Given the description of an element on the screen output the (x, y) to click on. 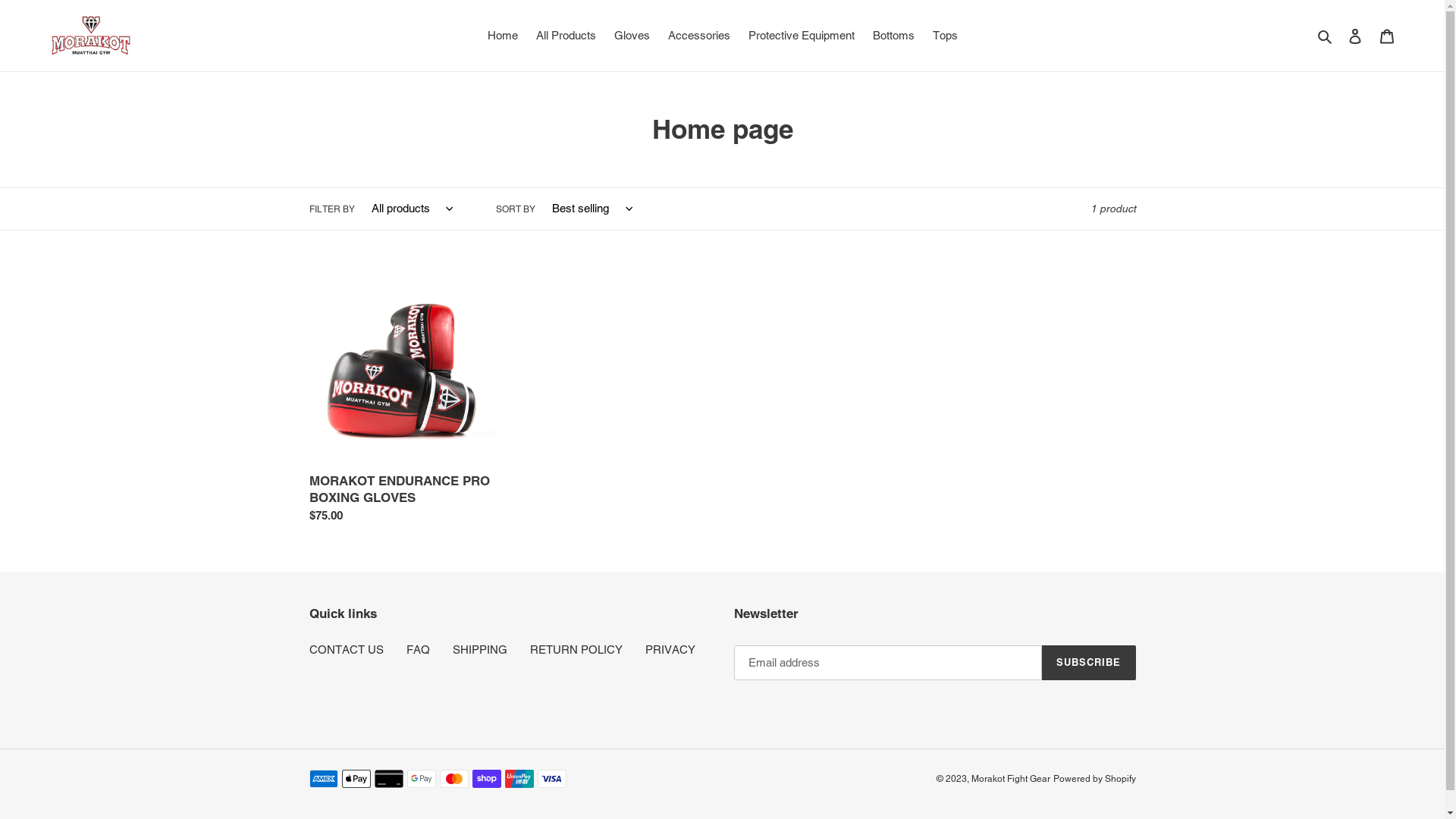
Powered by Shopify Element type: text (1093, 778)
SHIPPING Element type: text (478, 649)
PRIVACY Element type: text (669, 649)
Morakot Fight Gear Element type: text (1009, 778)
Gloves Element type: text (631, 36)
All Products Element type: text (564, 36)
MORAKOT ENDURANCE PRO BOXING GLOVES Element type: text (403, 401)
RETURN POLICY Element type: text (575, 649)
Accessories Element type: text (698, 36)
Bottoms Element type: text (892, 36)
FAQ Element type: text (417, 649)
Home Element type: text (501, 36)
CONTACT US Element type: text (346, 649)
Search Element type: text (1325, 35)
SUBSCRIBE Element type: text (1088, 662)
Tops Element type: text (945, 36)
Cart Element type: text (1386, 35)
Log in Element type: text (1355, 35)
Protective Equipment Element type: text (800, 36)
